Given the description of an element on the screen output the (x, y) to click on. 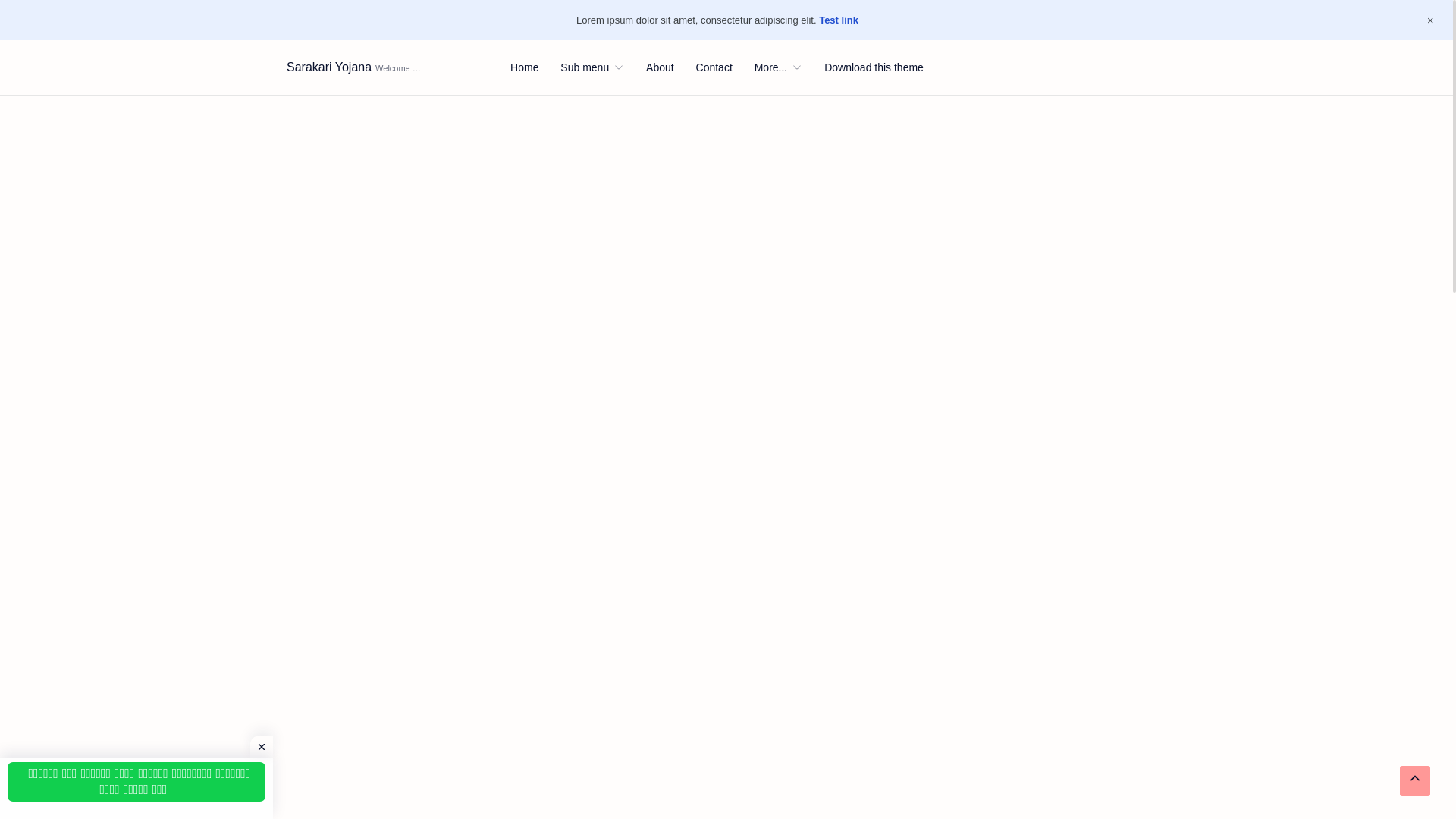
Test link (838, 19)
About (660, 67)
Scroll back to top (1414, 780)
Advertisement (593, 813)
Sarakari Yojana (328, 67)
Home (524, 67)
Download this theme (873, 67)
Contact (713, 67)
